Given the description of an element on the screen output the (x, y) to click on. 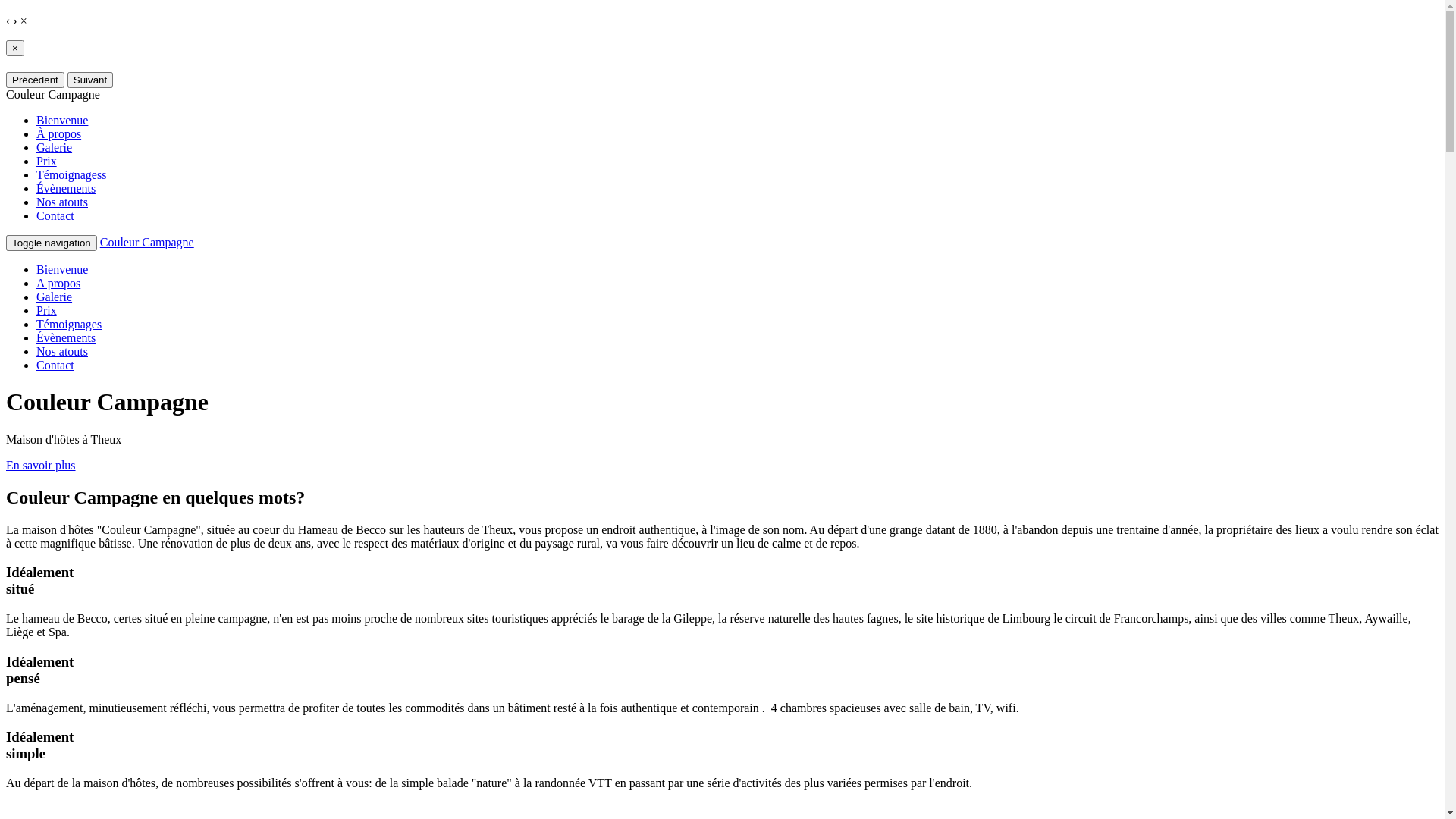
Contact Element type: text (55, 215)
En savoir plus Element type: text (40, 464)
Contact Element type: text (55, 364)
Bienvenue Element type: text (61, 119)
Galerie Element type: text (54, 147)
Nos atouts Element type: text (61, 201)
Prix Element type: text (46, 160)
Bienvenue Element type: text (61, 269)
Couleur Campagne Element type: text (147, 241)
Toggle navigation Element type: text (51, 243)
A propos Element type: text (58, 282)
Nos atouts Element type: text (61, 351)
Galerie Element type: text (54, 296)
Prix Element type: text (46, 310)
Suivant Element type: text (89, 79)
